Given the description of an element on the screen output the (x, y) to click on. 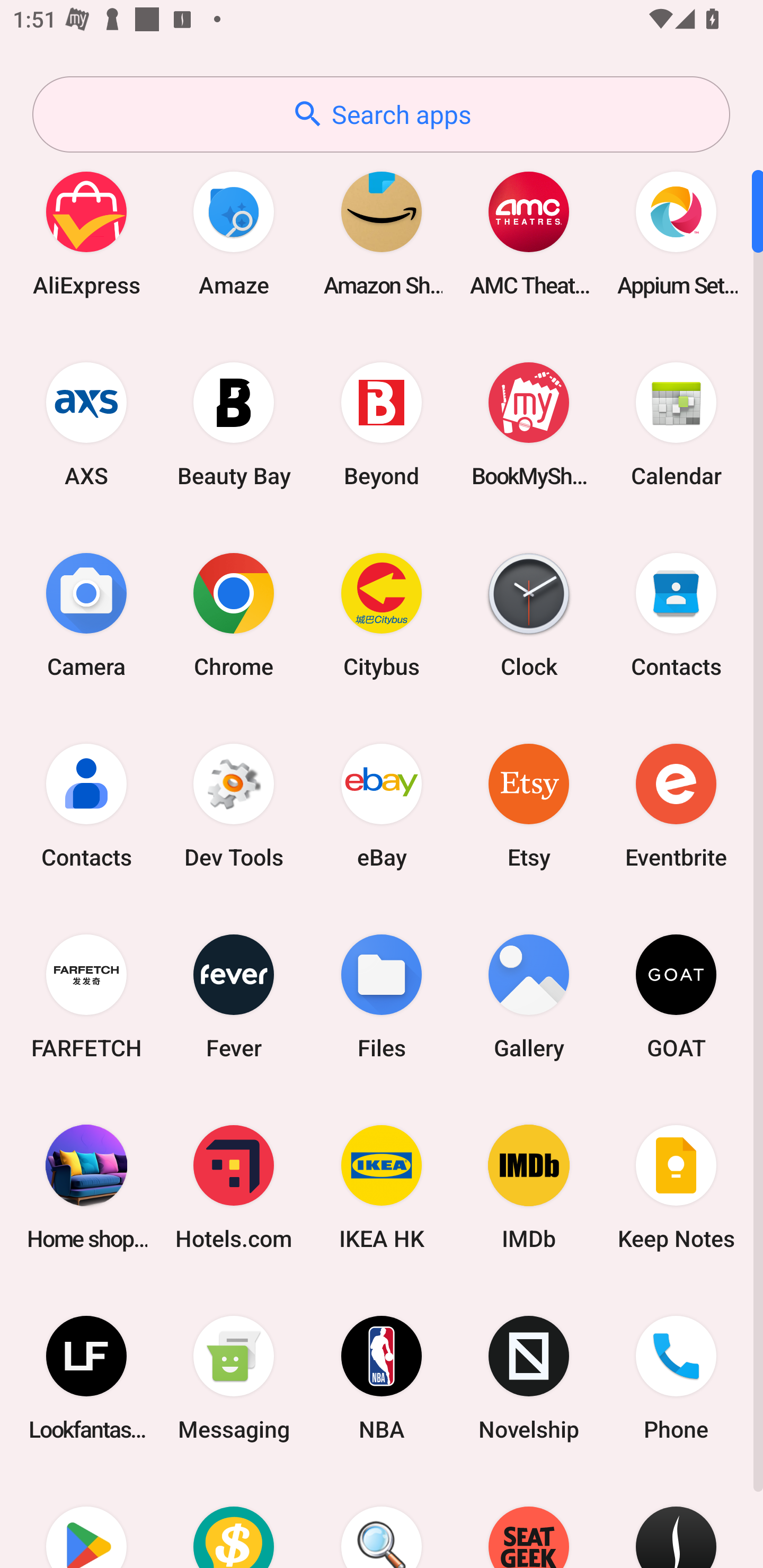
  Search apps (381, 114)
AliExpress (86, 233)
Amaze (233, 233)
Amazon Shopping (381, 233)
AMC Theatres (528, 233)
Appium Settings (676, 233)
AXS (86, 424)
Beauty Bay (233, 424)
Beyond (381, 424)
BookMyShow (528, 424)
Calendar (676, 424)
Camera (86, 614)
Chrome (233, 614)
Citybus (381, 614)
Clock (528, 614)
Contacts (676, 614)
Contacts (86, 805)
Dev Tools (233, 805)
eBay (381, 805)
Etsy (528, 805)
Eventbrite (676, 805)
FARFETCH (86, 996)
Fever (233, 996)
Files (381, 996)
Gallery (528, 996)
GOAT (676, 996)
Home shopping (86, 1186)
Hotels.com (233, 1186)
IKEA HK (381, 1186)
IMDb (528, 1186)
Keep Notes (676, 1186)
Lookfantastic (86, 1377)
Messaging (233, 1377)
NBA (381, 1377)
Novelship (528, 1377)
Phone (676, 1377)
